Given the description of an element on the screen output the (x, y) to click on. 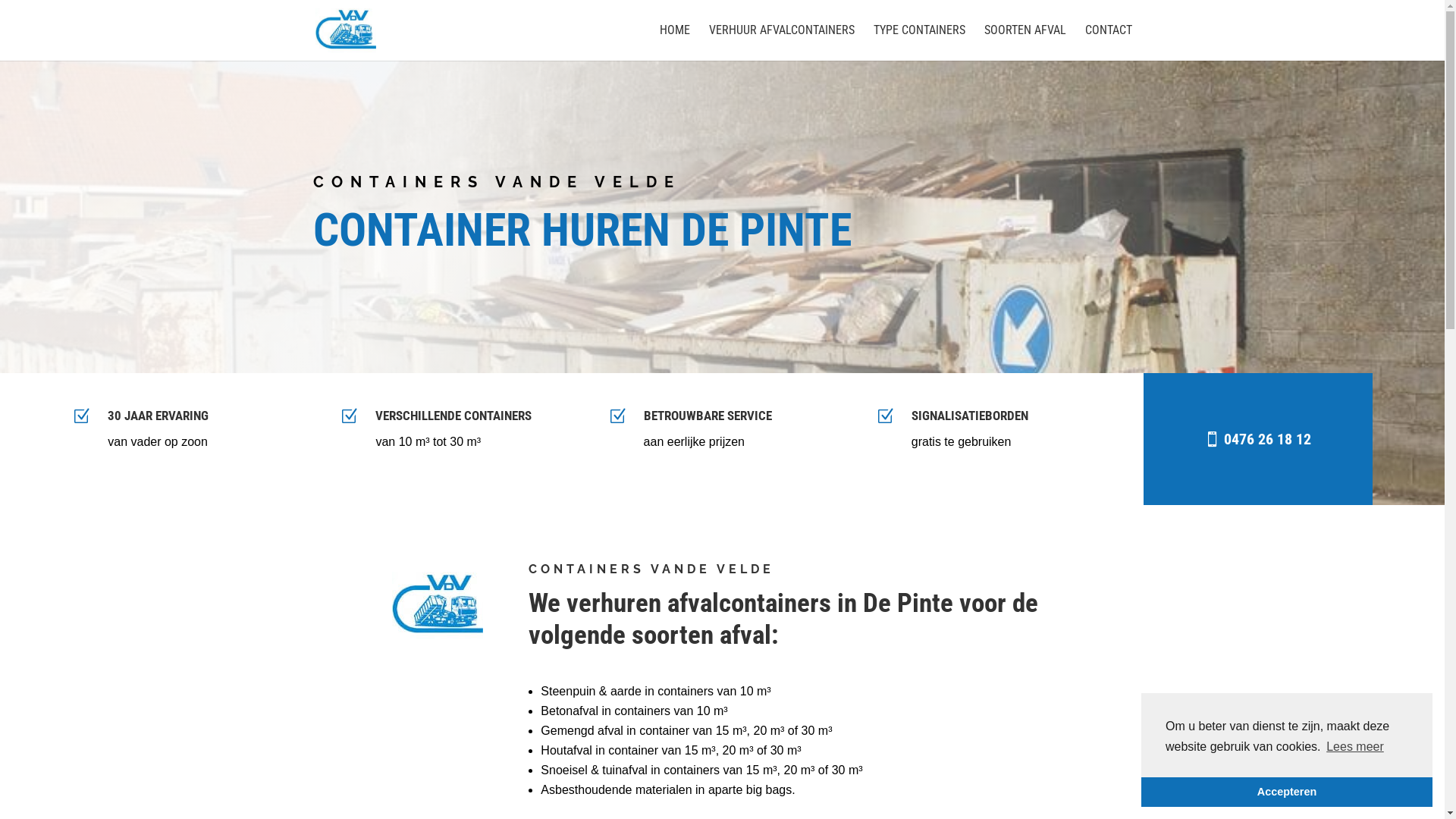
SOORTEN AFVAL Element type: text (1025, 42)
0476 26 18 12 Element type: text (1257, 439)
HOME Element type: text (674, 42)
Logo Element type: hover (437, 604)
VERHUUR AFVALCONTAINERS Element type: text (780, 42)
Accepteren Element type: text (1286, 791)
CONTACT Element type: text (1107, 42)
Lees meer Element type: text (1355, 746)
TYPE CONTAINERS Element type: text (919, 42)
